Given the description of an element on the screen output the (x, y) to click on. 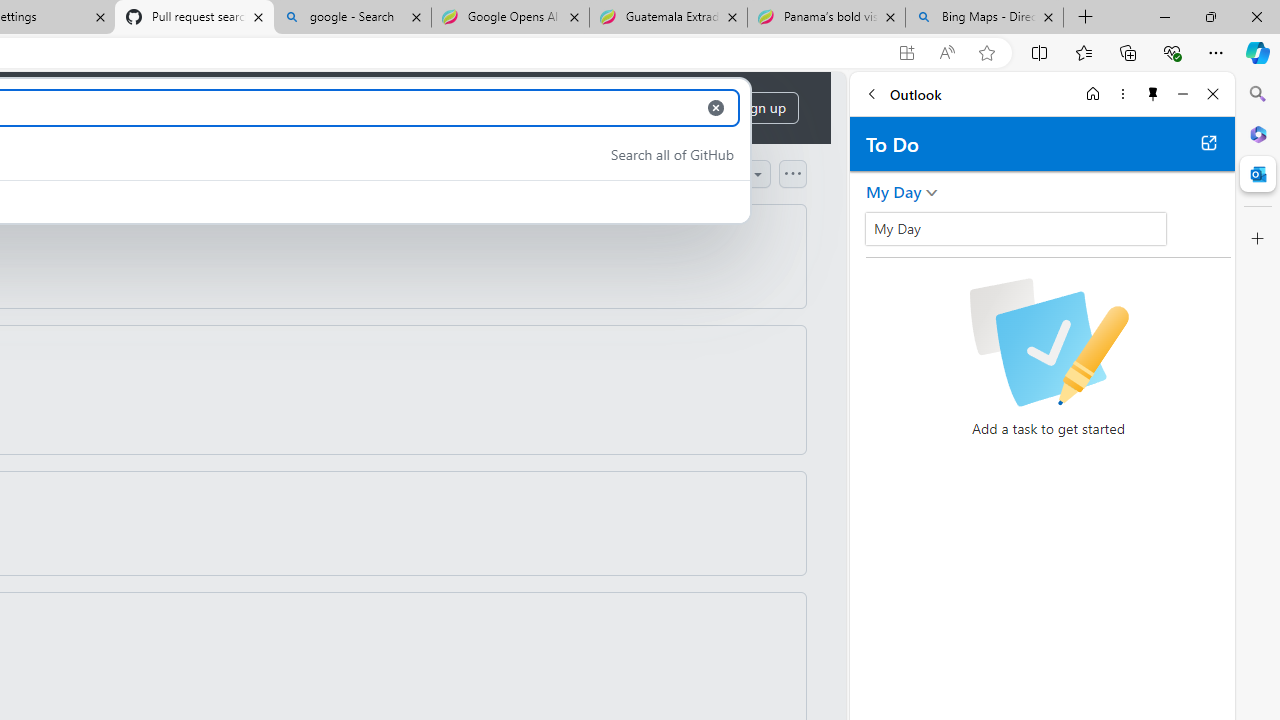
Add a task (1065, 235)
My Day (1016, 228)
Class: wL_Ii70haOUOvHnsRwbD (1016, 228)
My Day (893, 191)
